Given the description of an element on the screen output the (x, y) to click on. 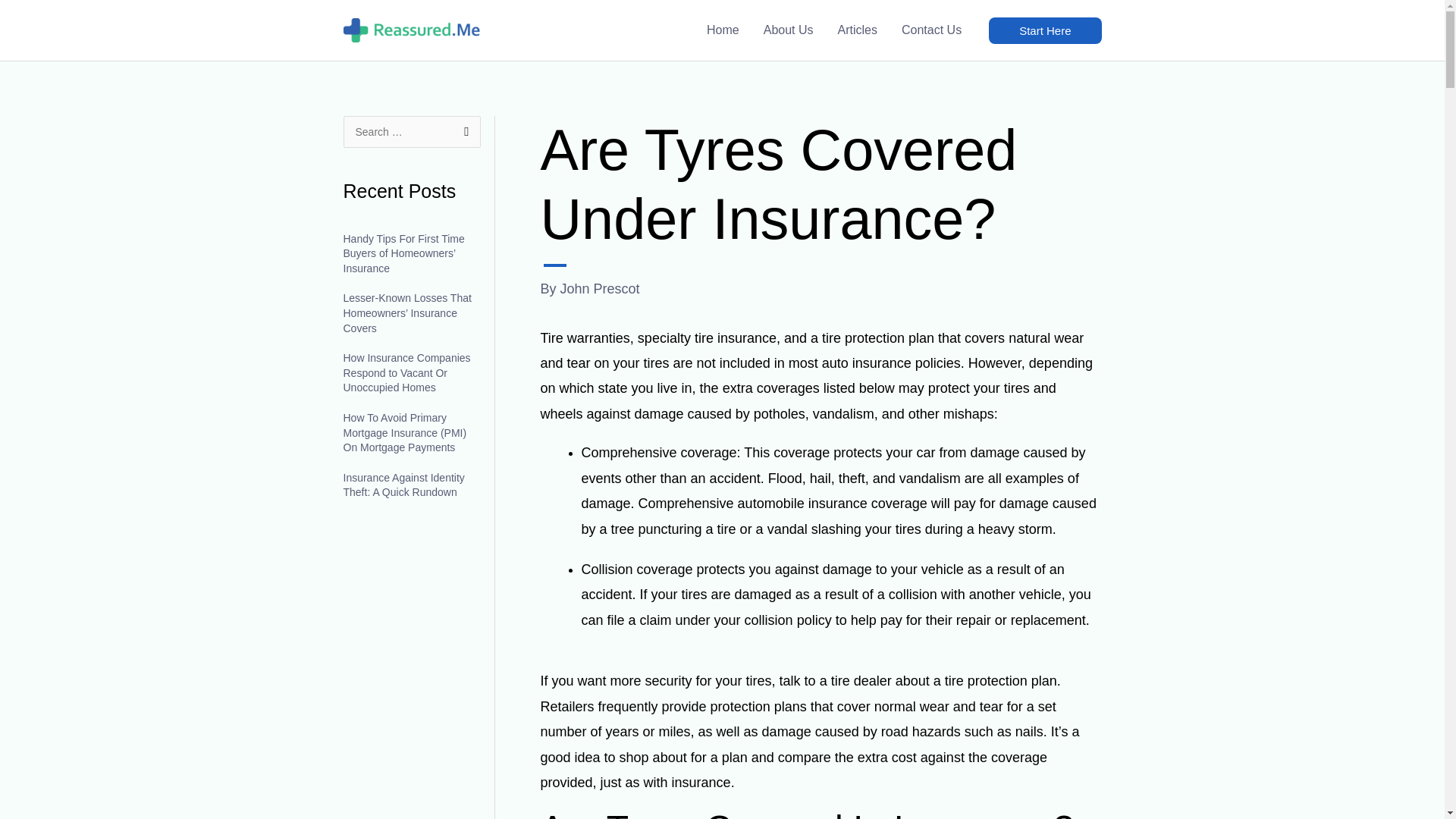
John Prescot (600, 288)
Contact Us (931, 30)
About Us (788, 30)
Search (462, 132)
Search (462, 132)
Search (462, 132)
Home (722, 30)
Insurance Against Identity Theft: A Quick Rundown (403, 484)
Articles (857, 30)
View all posts by John Prescot (600, 288)
Start Here (1044, 29)
